Given the description of an element on the screen output the (x, y) to click on. 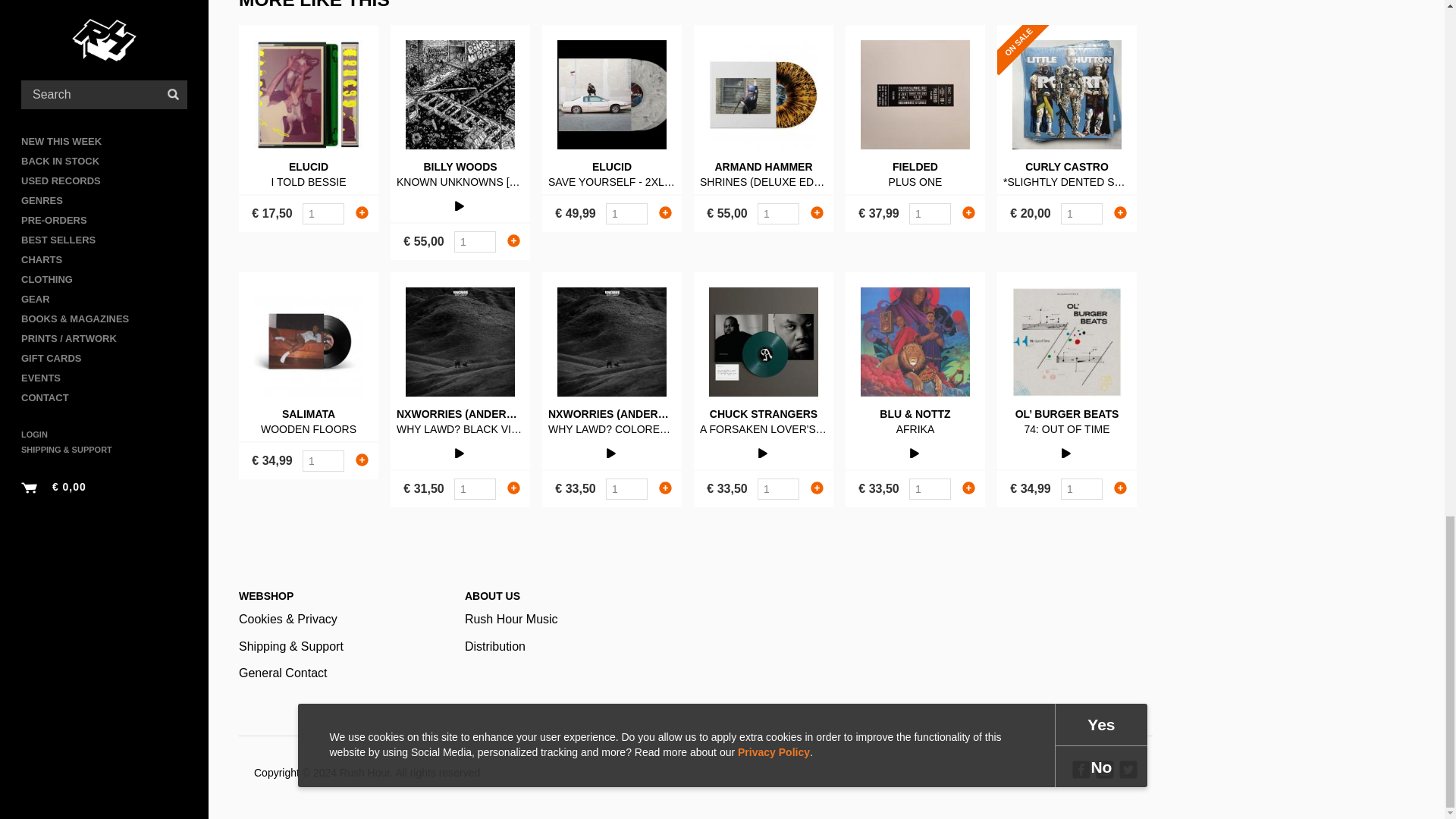
1 (475, 488)
1 (322, 460)
1 (626, 213)
1 (778, 213)
1 (626, 488)
1 (929, 213)
1 (1081, 213)
1 (778, 488)
1 (322, 213)
1 (475, 241)
1 (929, 488)
1 (1081, 488)
